Given the description of an element on the screen output the (x, y) to click on. 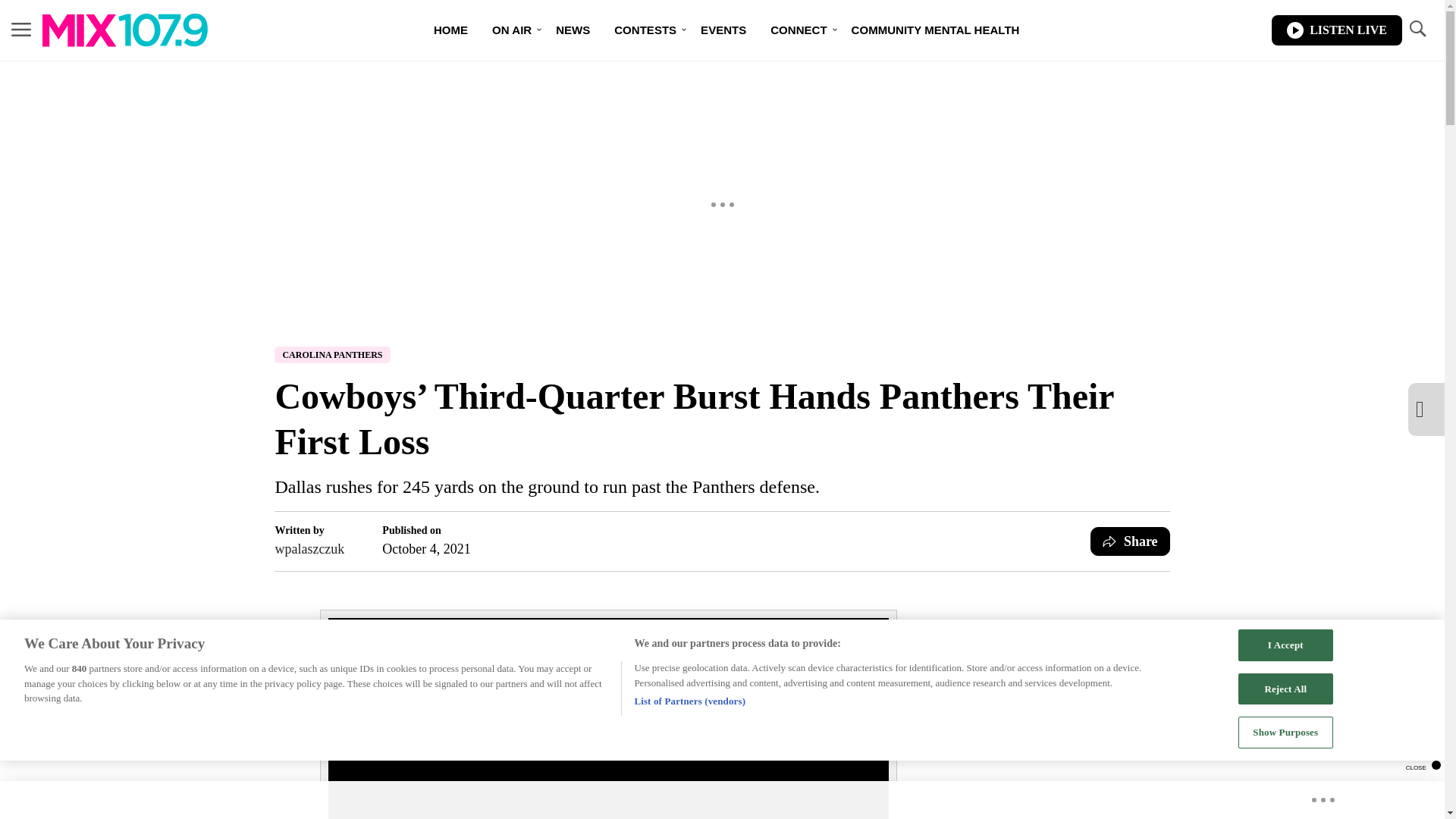
CONNECT (798, 30)
EVENTS (723, 30)
CAROLINA PANTHERS (332, 354)
Share (1130, 541)
wpalaszczuk (309, 548)
MENU (20, 30)
HOME (451, 30)
COMMUNITY MENTAL HEALTH (936, 30)
ON AIR (511, 30)
TOGGLE SEARCH (1417, 28)
MENU (20, 29)
TOGGLE SEARCH (1417, 30)
CONTESTS (645, 30)
LISTEN LIVE (1336, 30)
NEWS (572, 30)
